Given the description of an element on the screen output the (x, y) to click on. 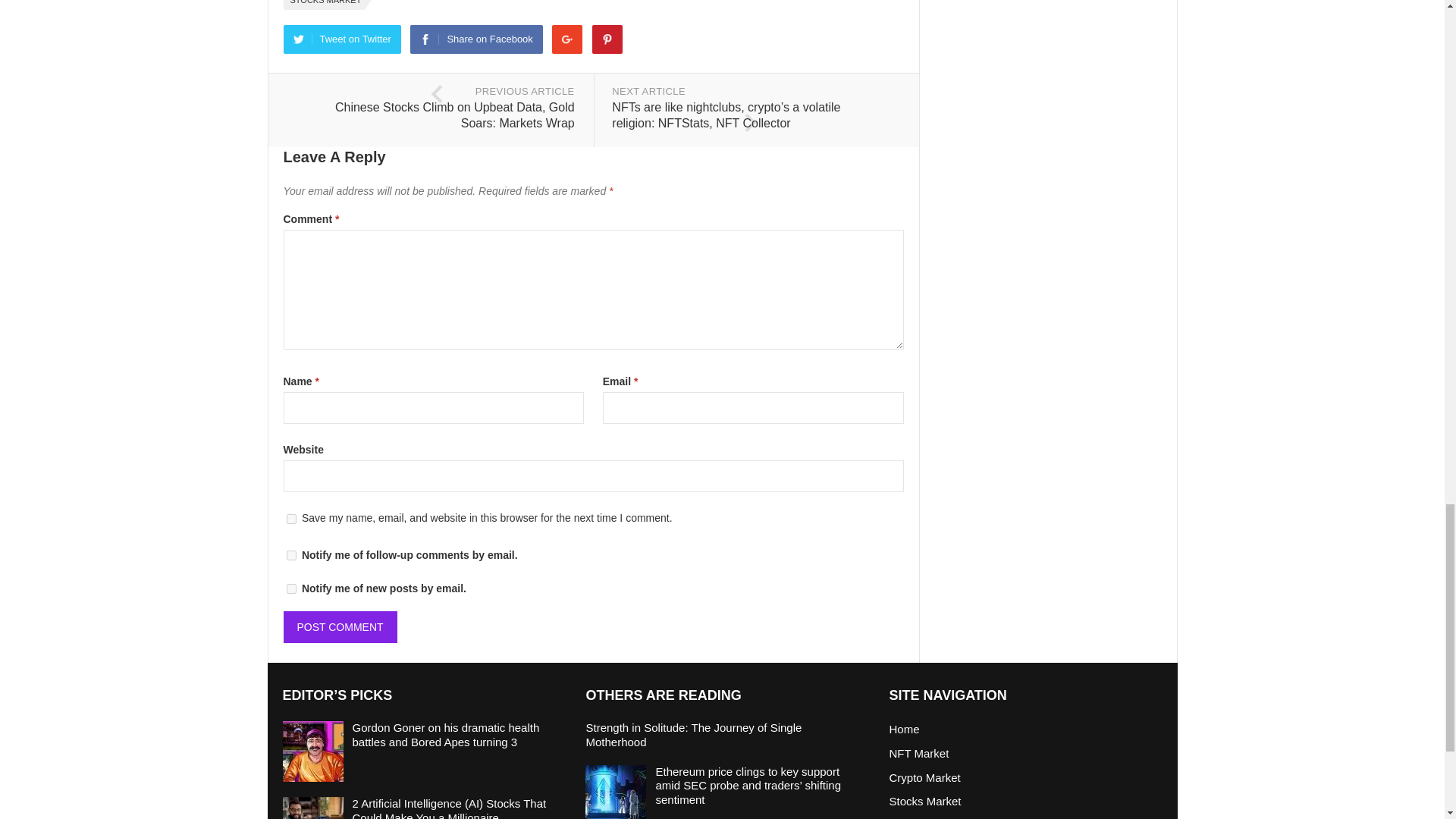
Post Comment (340, 626)
Post Comment (340, 626)
Tweet on Twitter (342, 39)
Pinterest (607, 39)
STOCKS MARKET (324, 4)
subscribe (291, 555)
Share on Facebook (475, 39)
yes (291, 519)
subscribe (291, 588)
